Given the description of an element on the screen output the (x, y) to click on. 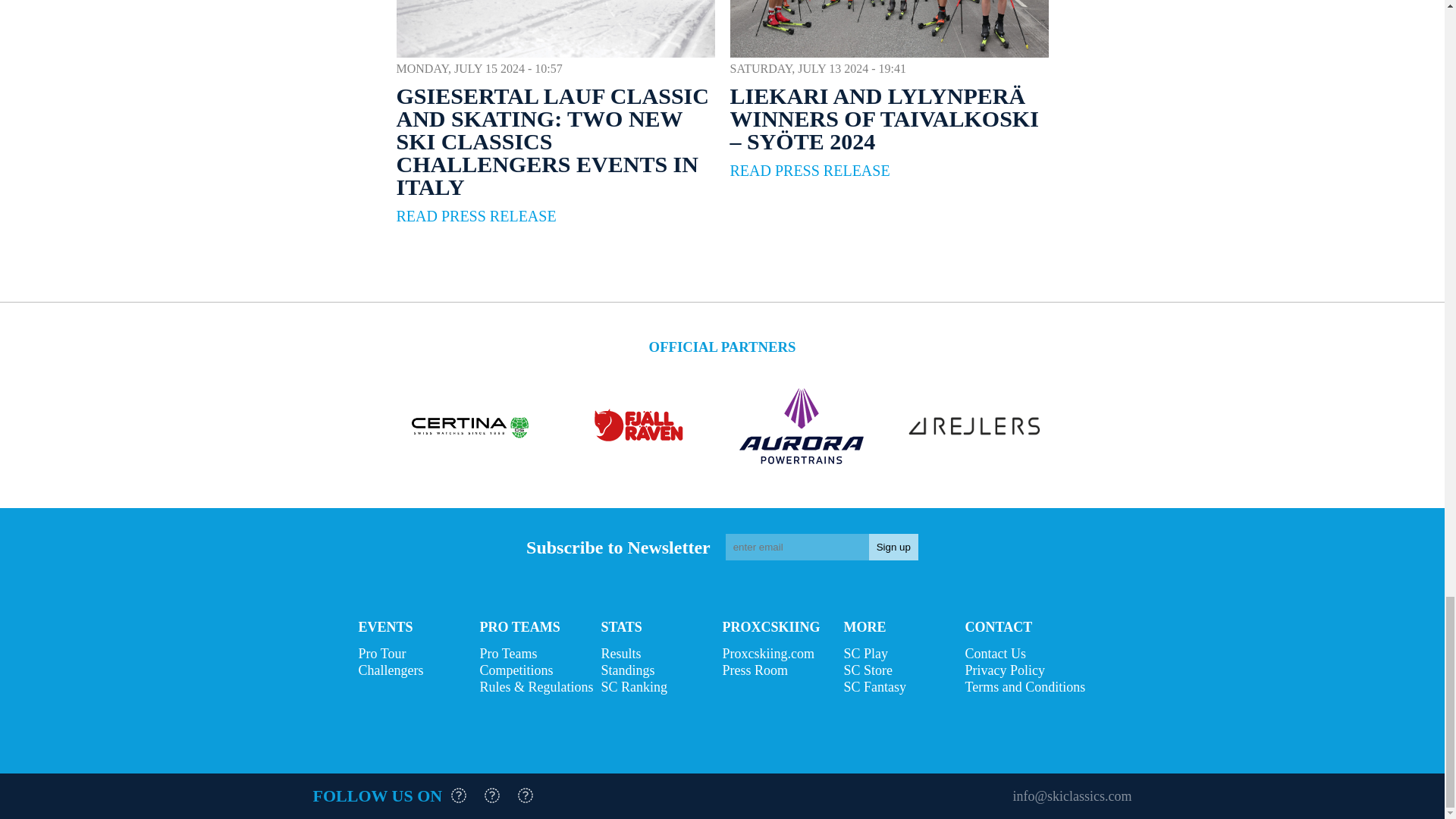
READ PRESS RELEASE (809, 170)
READ PRESS RELEASE (476, 216)
Sign up (893, 546)
Pro Tour (418, 653)
Sign up (893, 546)
